Given the description of an element on the screen output the (x, y) to click on. 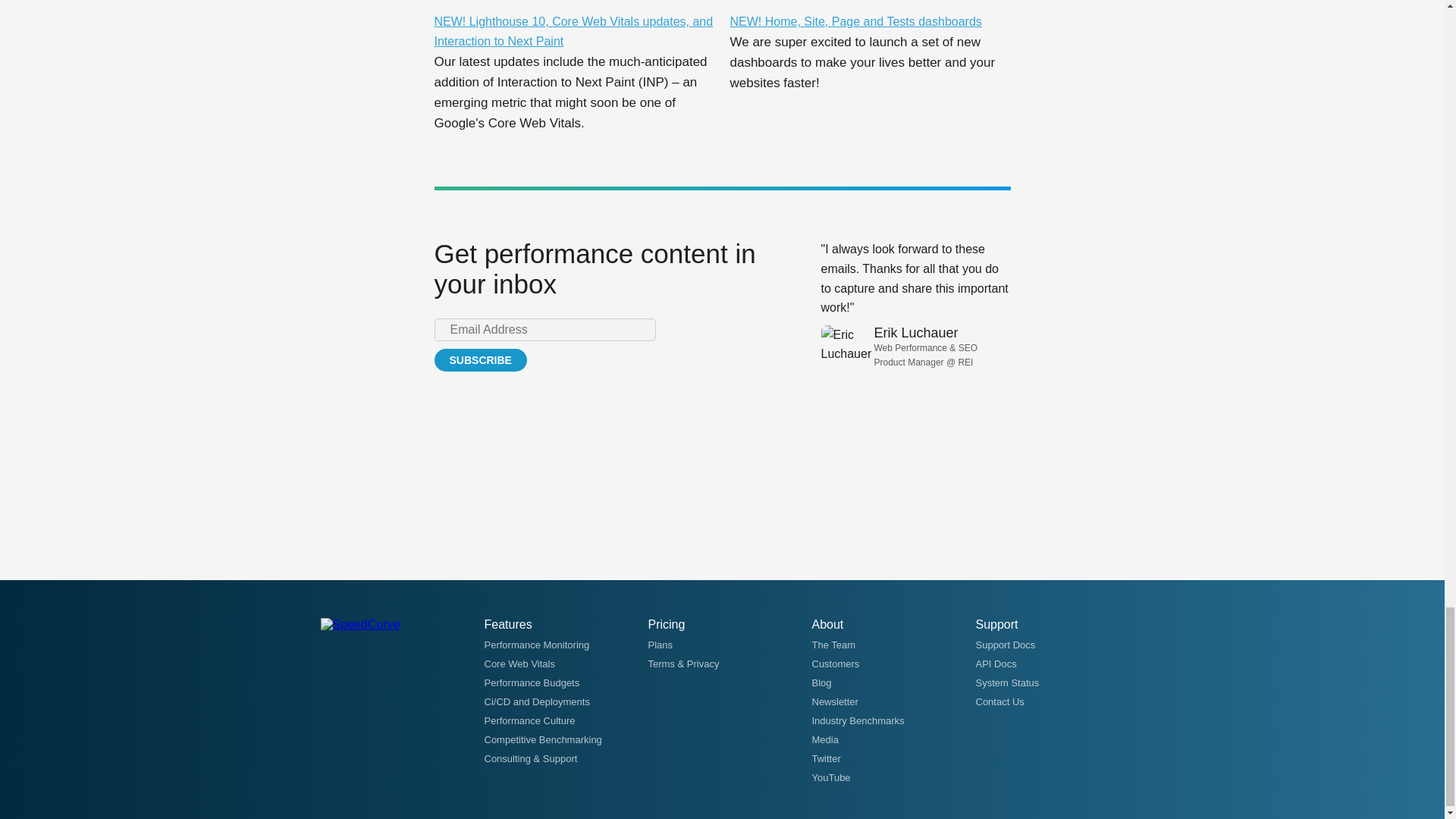
Subscribe (479, 359)
